Given the description of an element on the screen output the (x, y) to click on. 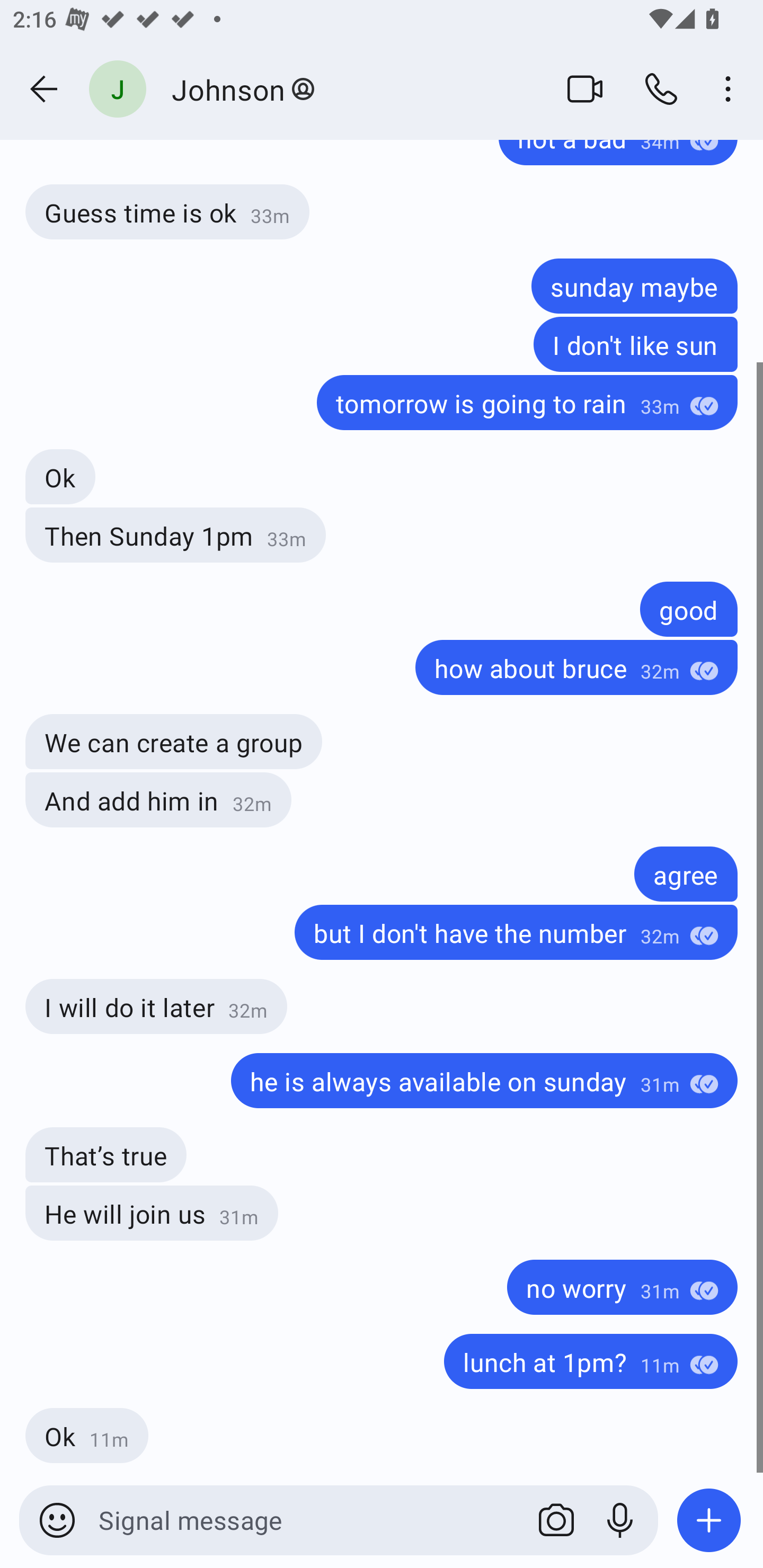
Add attachment (708, 1520)
